Given the description of an element on the screen output the (x, y) to click on. 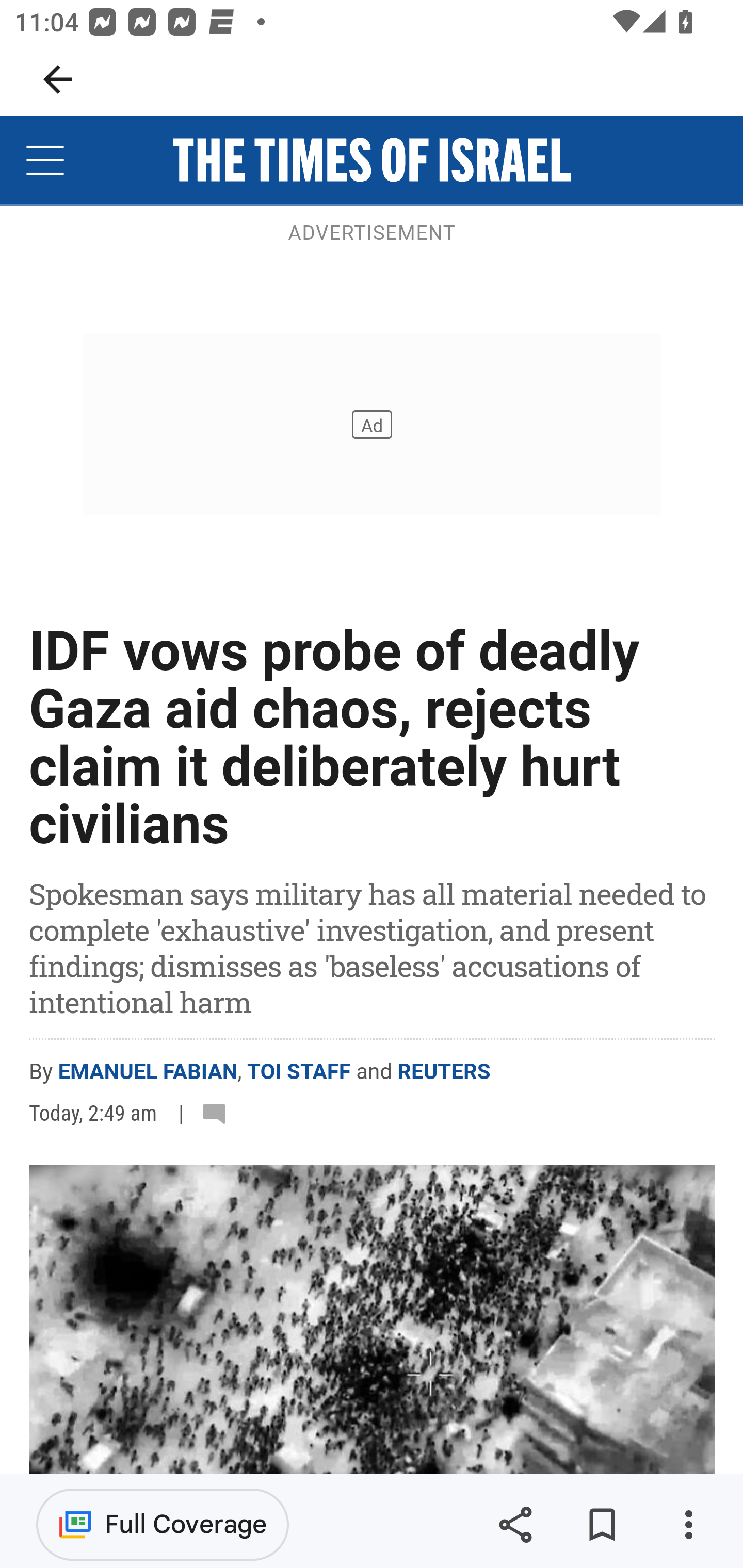
Navigate up (57, 79)
 (46, 160)
The Times of Israel (371, 160)
EMANUEL FABIAN (147, 1071)
TOI STAFF (298, 1071)
REUTERS (444, 1071)
 (218, 1112)
Share (514, 1524)
Save for later (601, 1524)
More options (688, 1524)
Full Coverage (162, 1524)
